Given the description of an element on the screen output the (x, y) to click on. 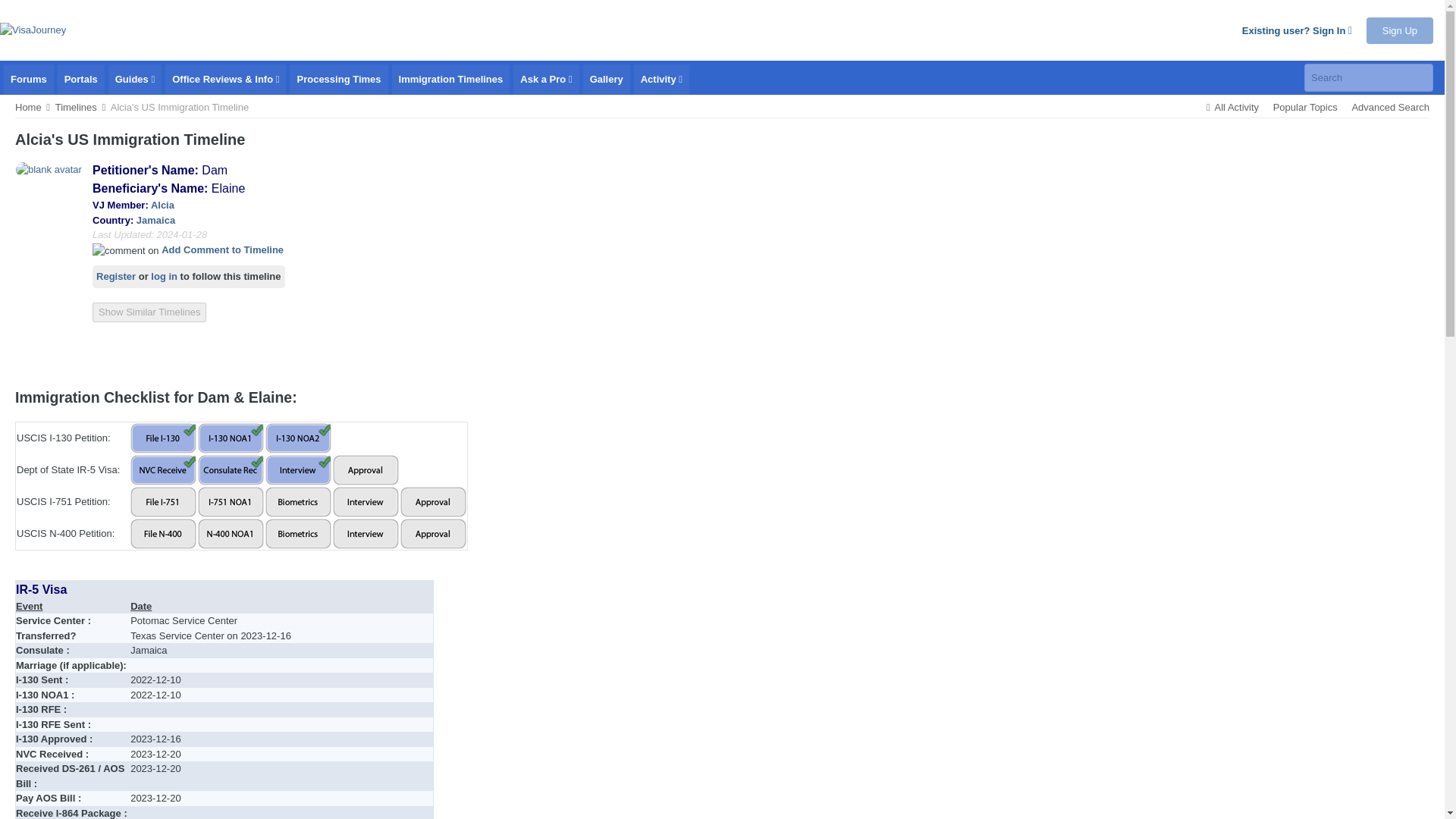
Activity (660, 79)
Guides (134, 79)
Show Similar Timelines (149, 312)
Sign Up (1399, 29)
Ask a Pro (545, 79)
Portals (81, 79)
Immigration Timelines (451, 79)
Home (33, 107)
Existing user? Sign In (1296, 30)
Gallery (606, 79)
